Given the description of an element on the screen output the (x, y) to click on. 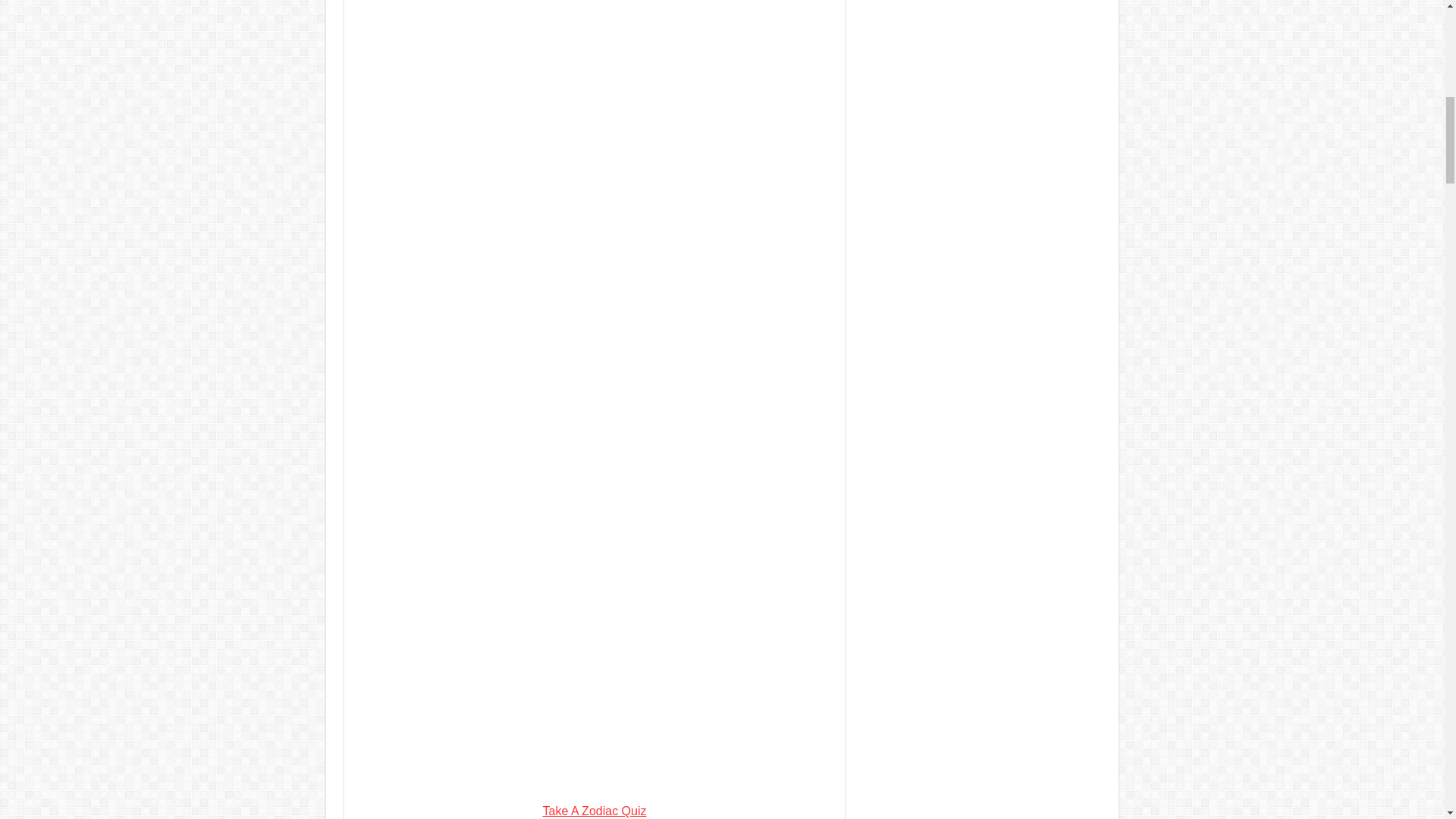
Take A Zodiac Quiz (594, 810)
